Given the description of an element on the screen output the (x, y) to click on. 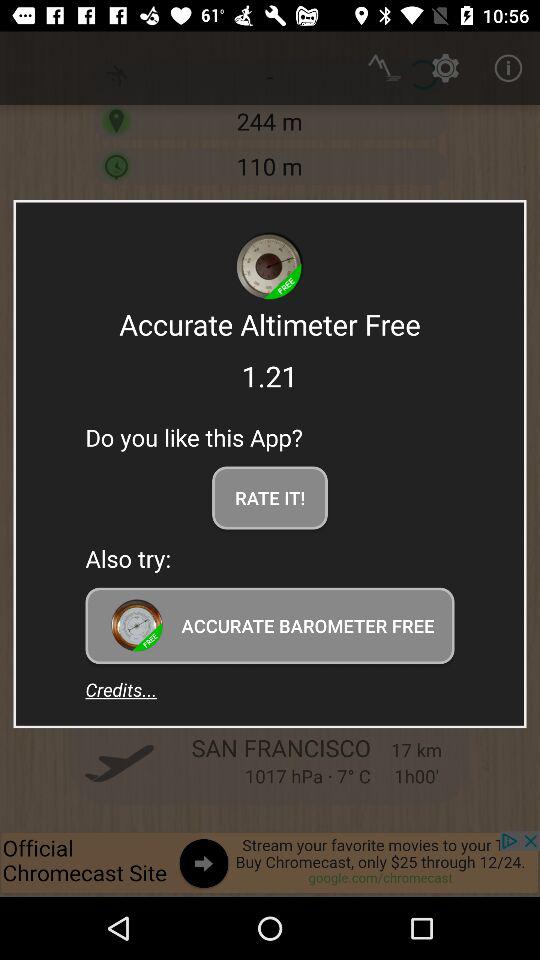
select rate it! button (269, 497)
